Given the description of an element on the screen output the (x, y) to click on. 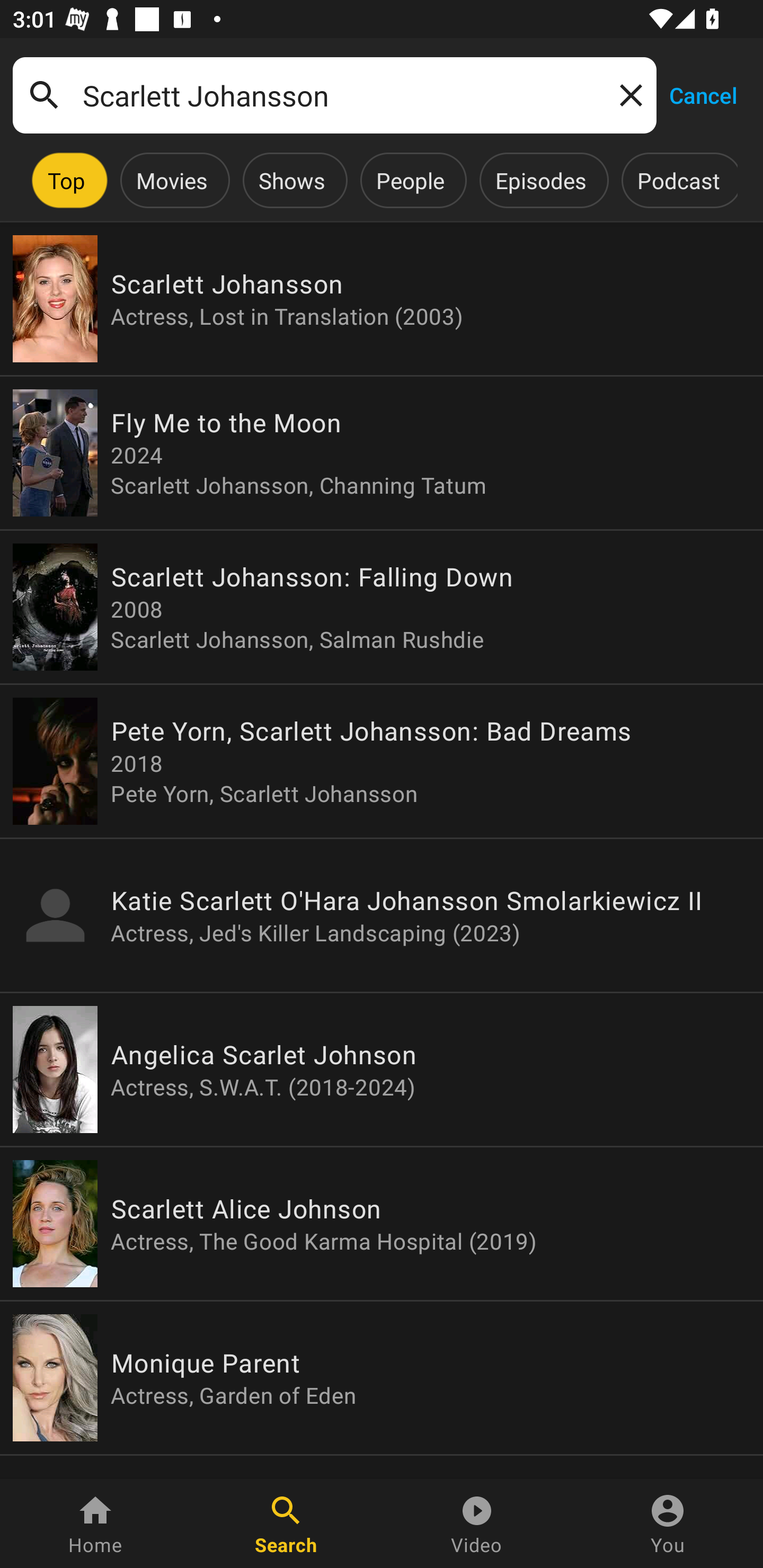
Clear query (627, 94)
Cancel (703, 94)
Scarlett Johansson (334, 95)
Top (66, 180)
Movies (171, 180)
Shows (291, 180)
People (410, 180)
Episodes (540, 180)
Podcast (678, 180)
Monique Parent Actress, Garden of Eden (381, 1377)
Home (95, 1523)
Video (476, 1523)
You (667, 1523)
